Given the description of an element on the screen output the (x, y) to click on. 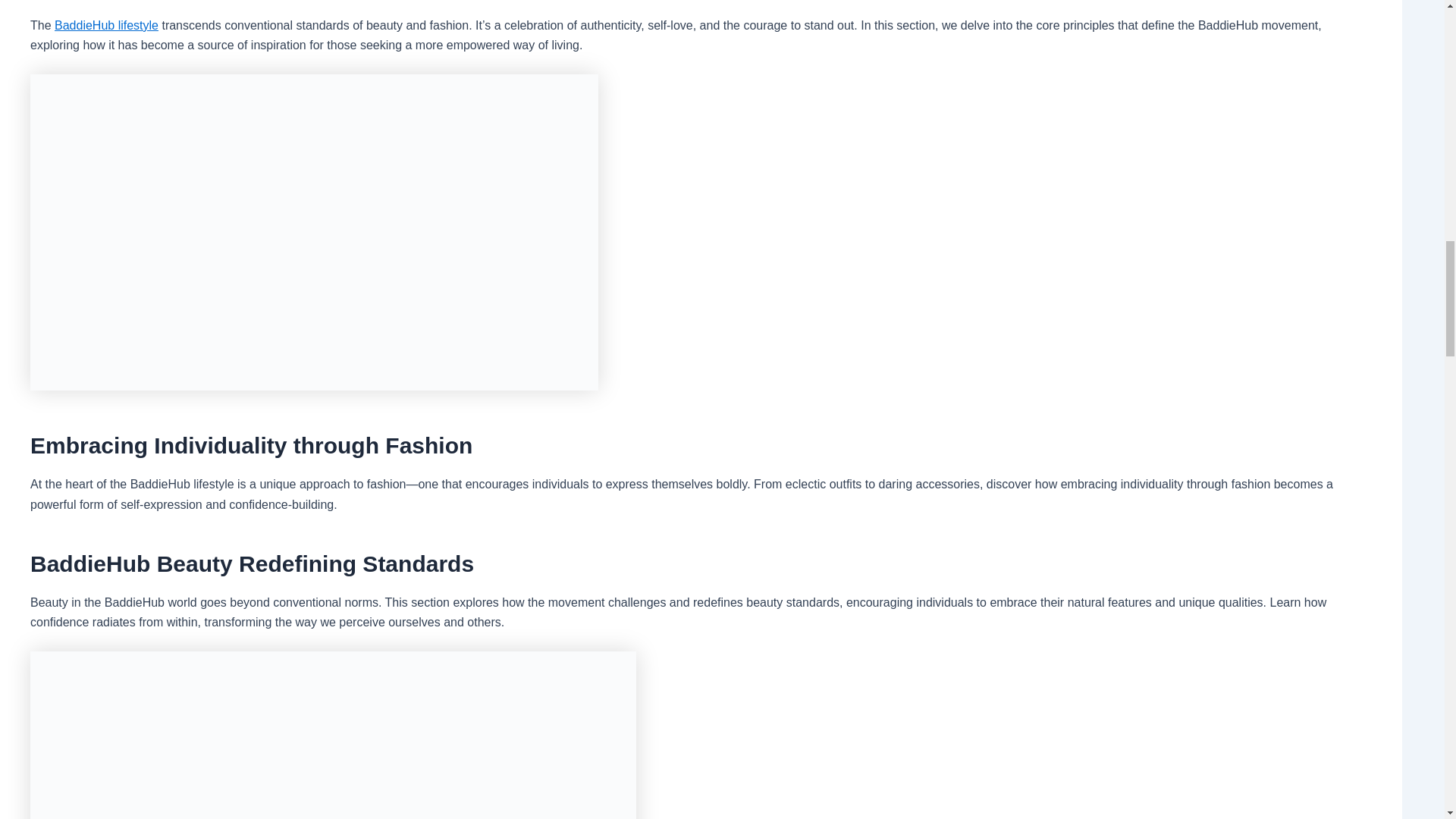
BaddieHub lifestyle (106, 24)
